Given the description of an element on the screen output the (x, y) to click on. 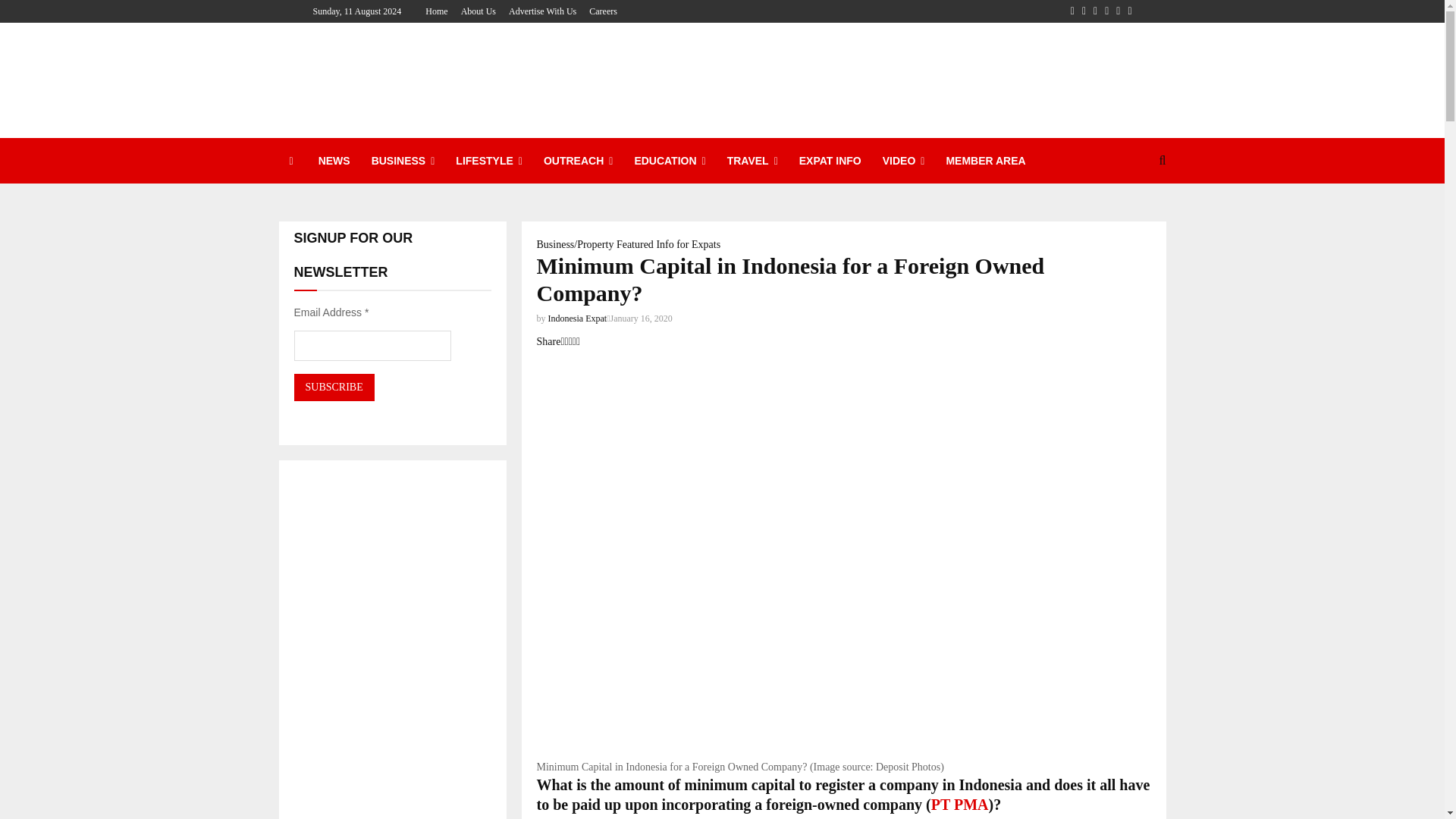
Subscribe (334, 387)
EDUCATION (669, 160)
MEMBER AREA (984, 160)
TRAVEL (752, 160)
NEWS (334, 160)
OUTREACH (577, 160)
LIFESTYLE (488, 160)
VIDEO (904, 160)
About Us (478, 11)
EXPAT INFO (830, 160)
